Given the description of an element on the screen output the (x, y) to click on. 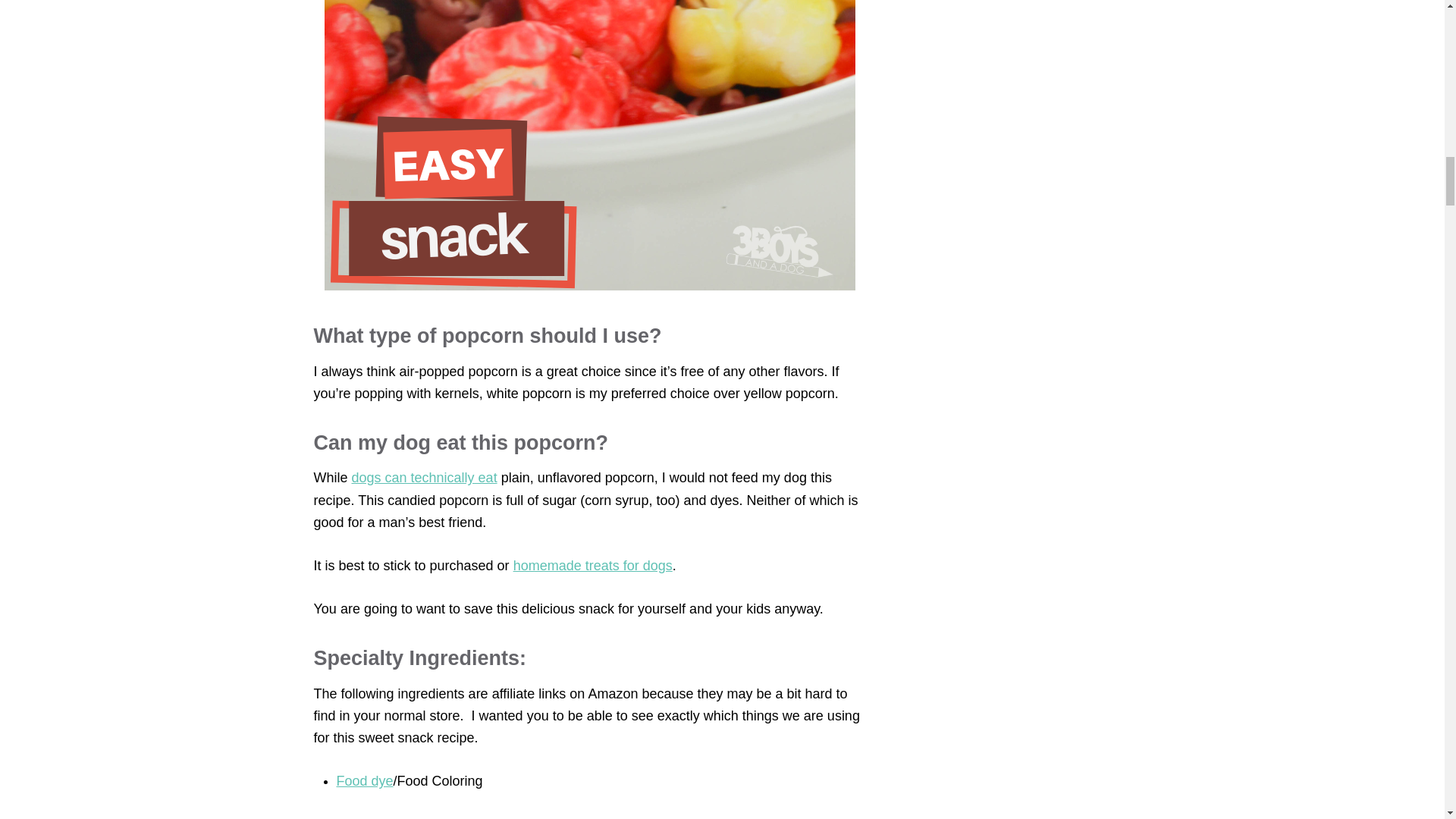
homemade treats for dogs (592, 565)
dogs can technically eat (424, 477)
Food dye (364, 780)
